Given the description of an element on the screen output the (x, y) to click on. 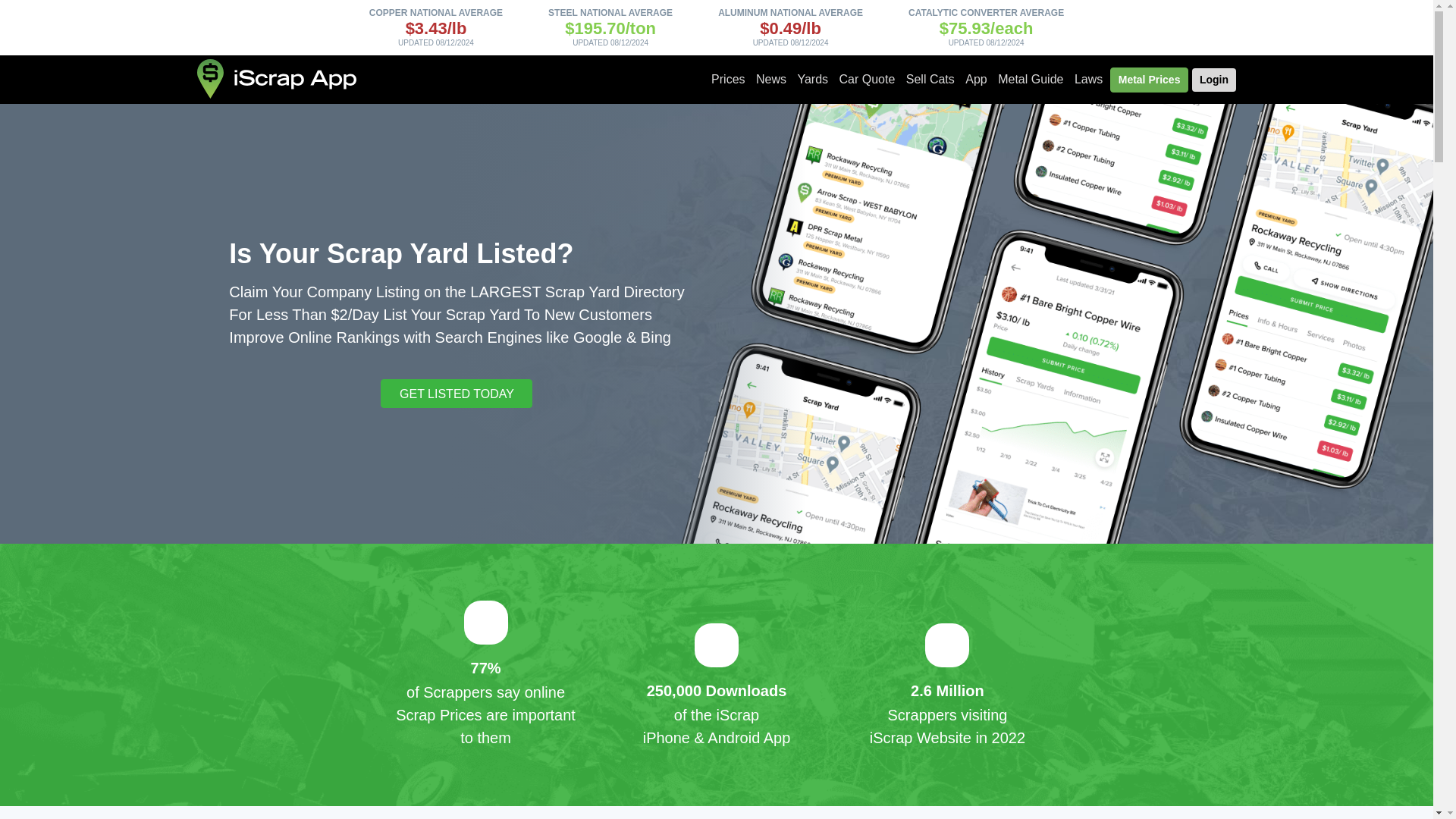
ALUMINUM NATIONAL AVERAGE (790, 12)
Metal Prices (1149, 79)
Car Quote (867, 79)
STEEL NATIONAL AVERAGE (610, 12)
CATALYTIC CONVERTER AVERAGE (986, 12)
COPPER NATIONAL AVERAGE (435, 12)
Metal Guide (1030, 79)
Sell Cats (930, 79)
Login (1214, 79)
GET LISTED TODAY (456, 393)
